Given the description of an element on the screen output the (x, y) to click on. 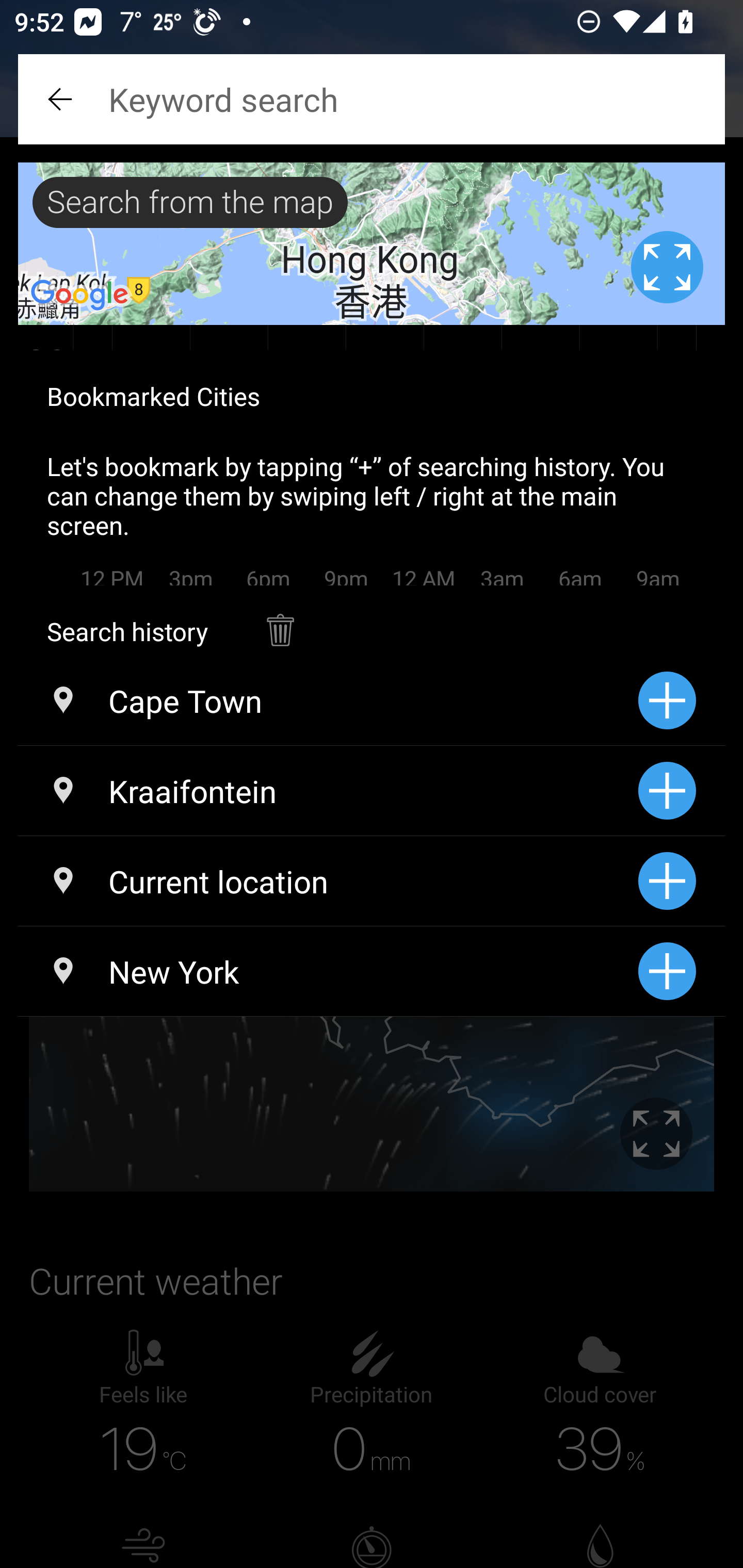
Keyword search (371, 99)
 (61, 99)
 (280, 619)
 Cape Town (327, 700)
 Kraaifontein (327, 790)
 Current location (327, 880)
 New York (327, 971)
